Given the description of an element on the screen output the (x, y) to click on. 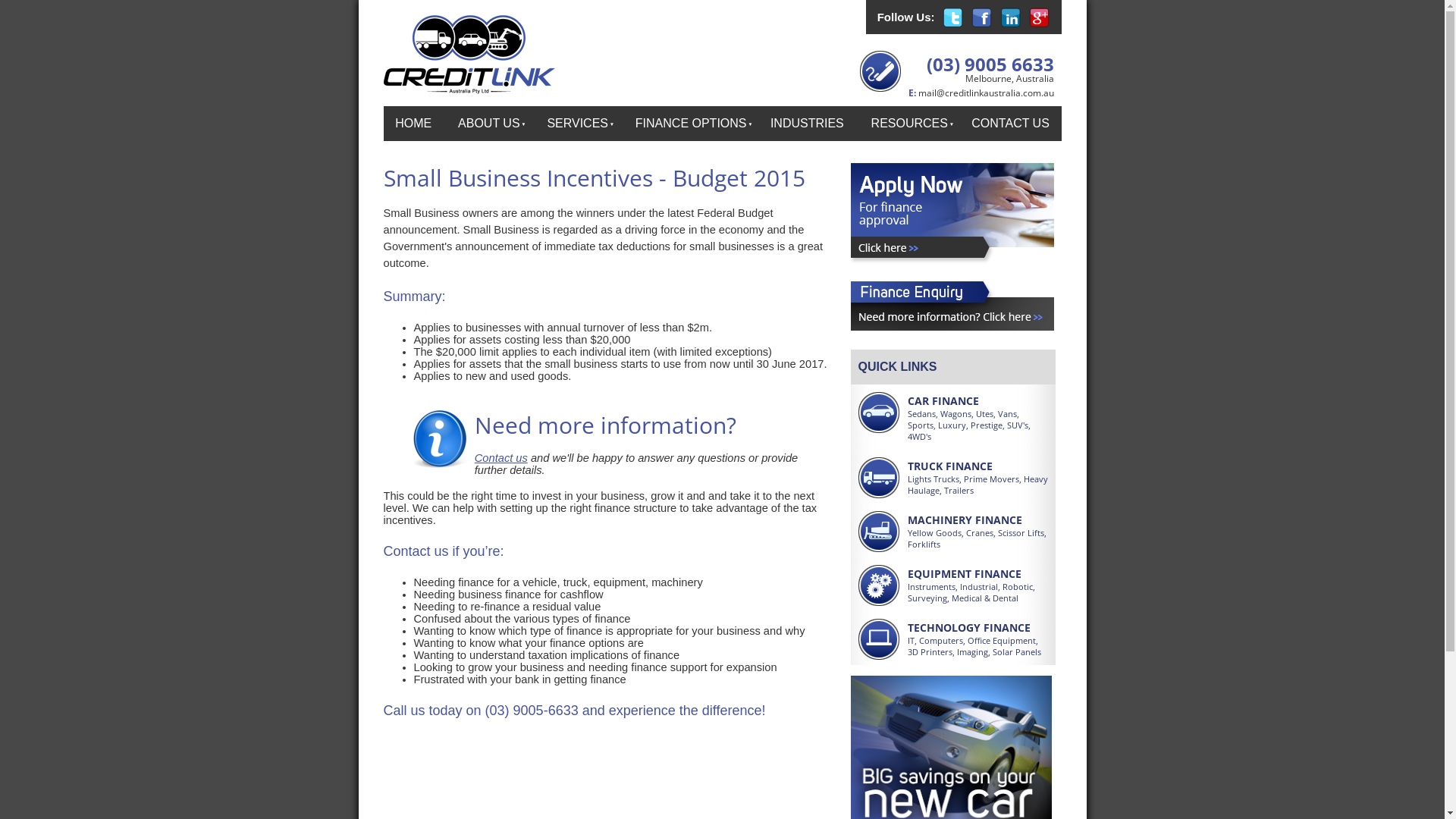
TRUCK FINANCE Element type: text (948, 465)
Contact us Element type: text (500, 457)
CONTACT US Element type: text (1010, 123)
mail@creditlinkaustralia.com.au Element type: text (985, 92)
MACHINERY FINANCE Element type: text (963, 519)
Lights Trucks, Prime Movers, Heavy Haulage, Trailers Element type: text (976, 484)
EQUIPMENT FINANCE Element type: text (963, 573)
FINANCE OPTIONS Element type: text (689, 123)
ABOUT US Element type: text (487, 123)
RESOURCES Element type: text (907, 123)
Yellow Goods, Cranes, Scissor Lifts, Forklifts Element type: text (975, 538)
TECHNOLOGY FINANCE Element type: text (967, 627)
HOME Element type: text (412, 123)
INDUSTRIES Element type: text (806, 123)
SERVICES Element type: text (575, 123)
CAR FINANCE Element type: text (942, 400)
